Given the description of an element on the screen output the (x, y) to click on. 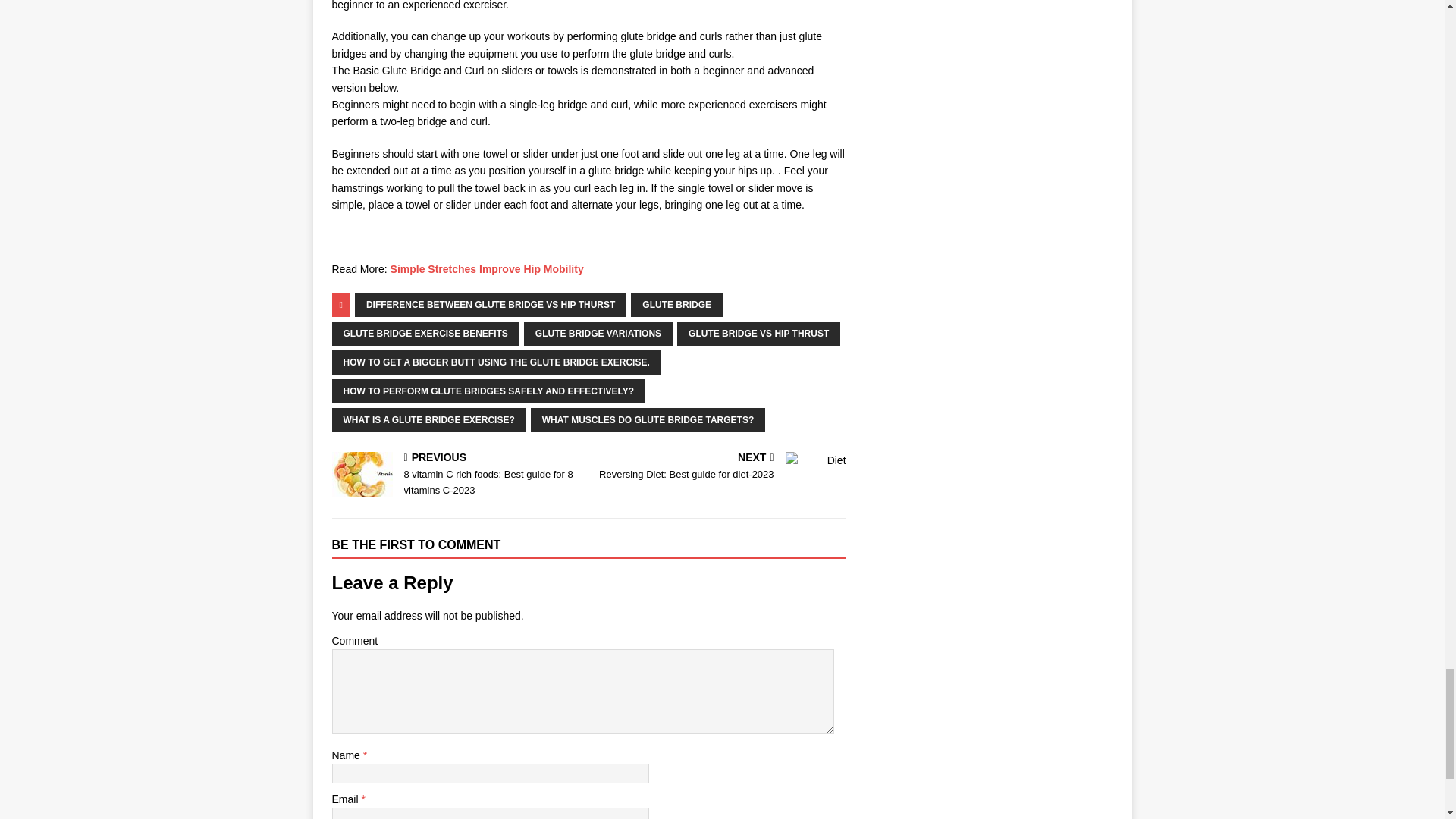
Simple Stretches Improve Hip Mobility (486, 268)
DIFFERENCE BETWEEN GLUTE BRIDGE VS HIP THURST (490, 304)
